Given the description of an element on the screen output the (x, y) to click on. 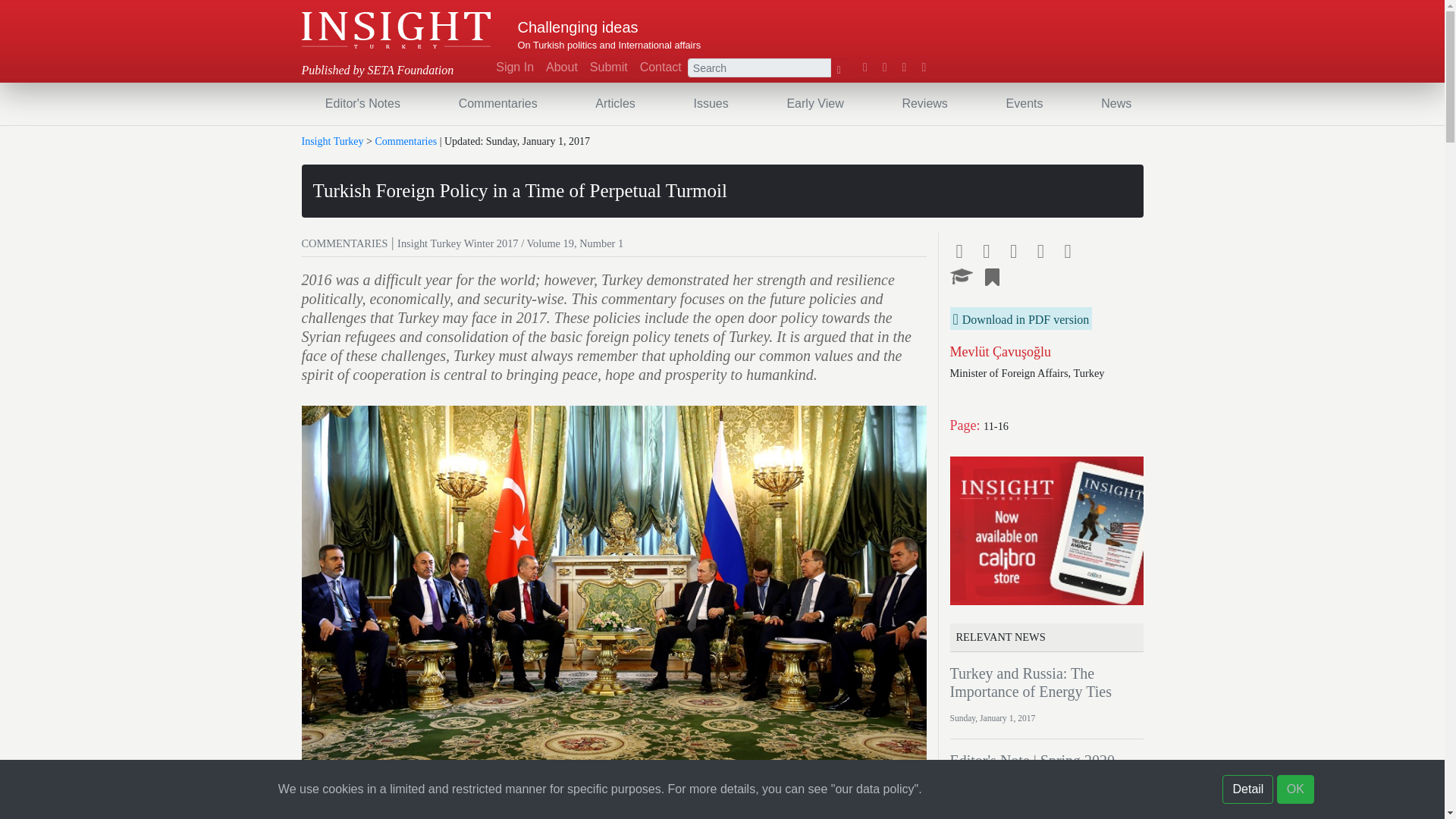
Twitter insightturkey (884, 67)
Editor's Notes (362, 103)
Contact (660, 67)
Submit (608, 67)
Insight Turkey Linkedin (904, 67)
Issues (710, 103)
Commentaries (497, 103)
About (561, 67)
Facebook insightturkey (865, 67)
Reviews (924, 103)
About (561, 67)
Insight Turkey (396, 29)
Articles (614, 103)
Sign In (514, 67)
Early View (814, 103)
